Given the description of an element on the screen output the (x, y) to click on. 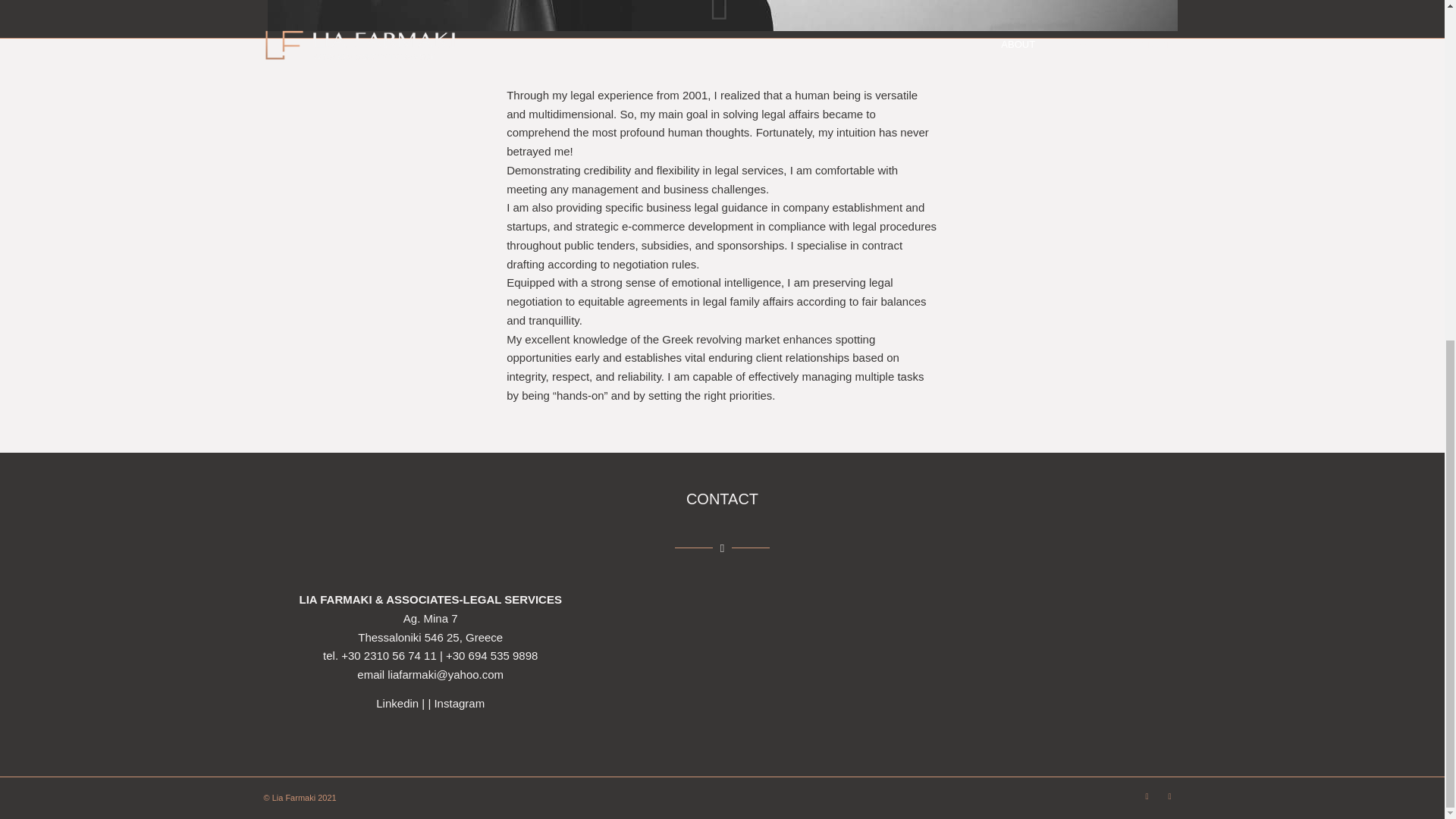
Instagram (458, 703)
Pinterest (1169, 795)
LinkedIn (1146, 795)
Linkedin (397, 703)
